Given the description of an element on the screen output the (x, y) to click on. 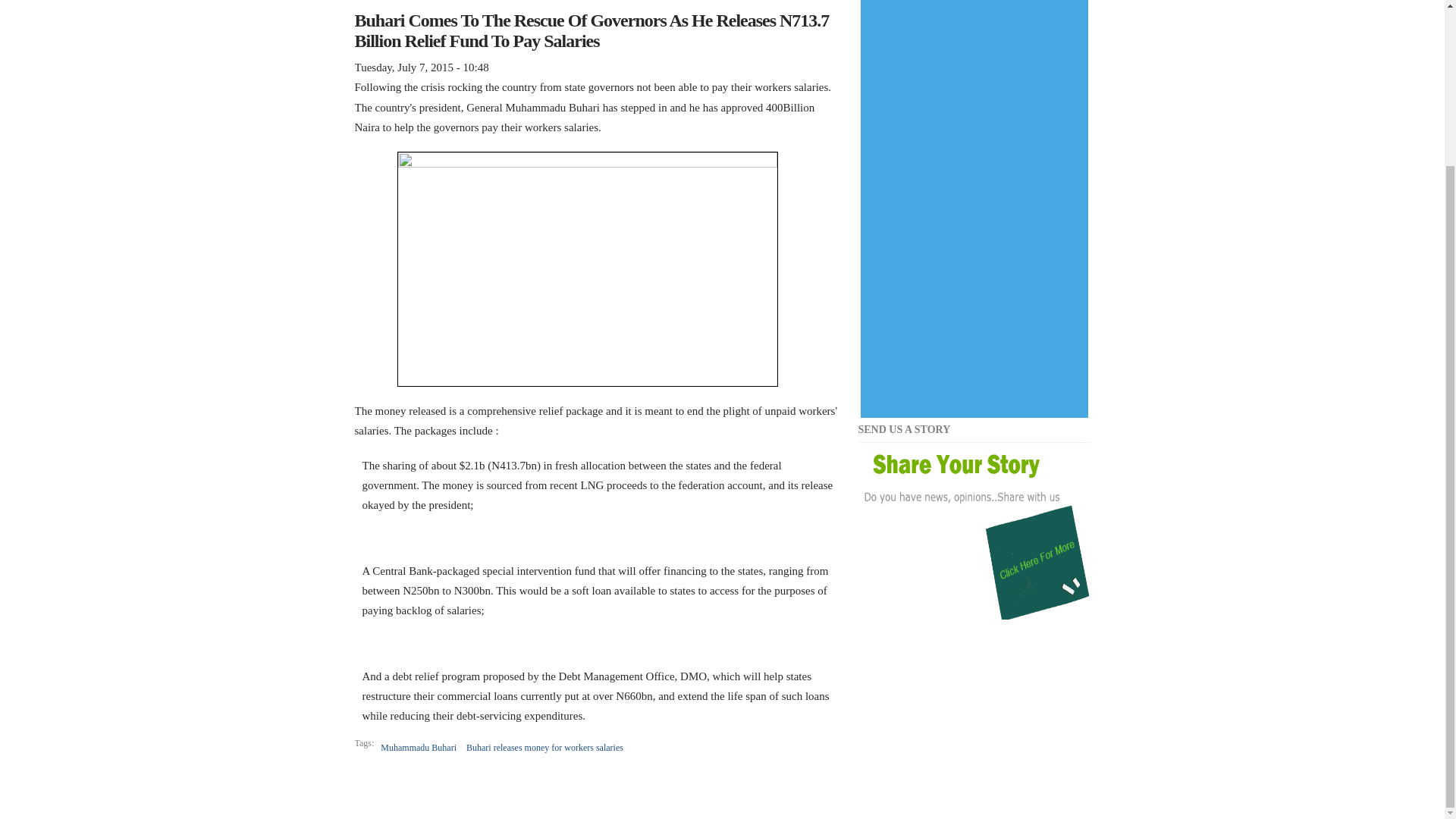
Buhari releases money for workers salaries (544, 747)
Muhammadu Buhari (418, 747)
